Given the description of an element on the screen output the (x, y) to click on. 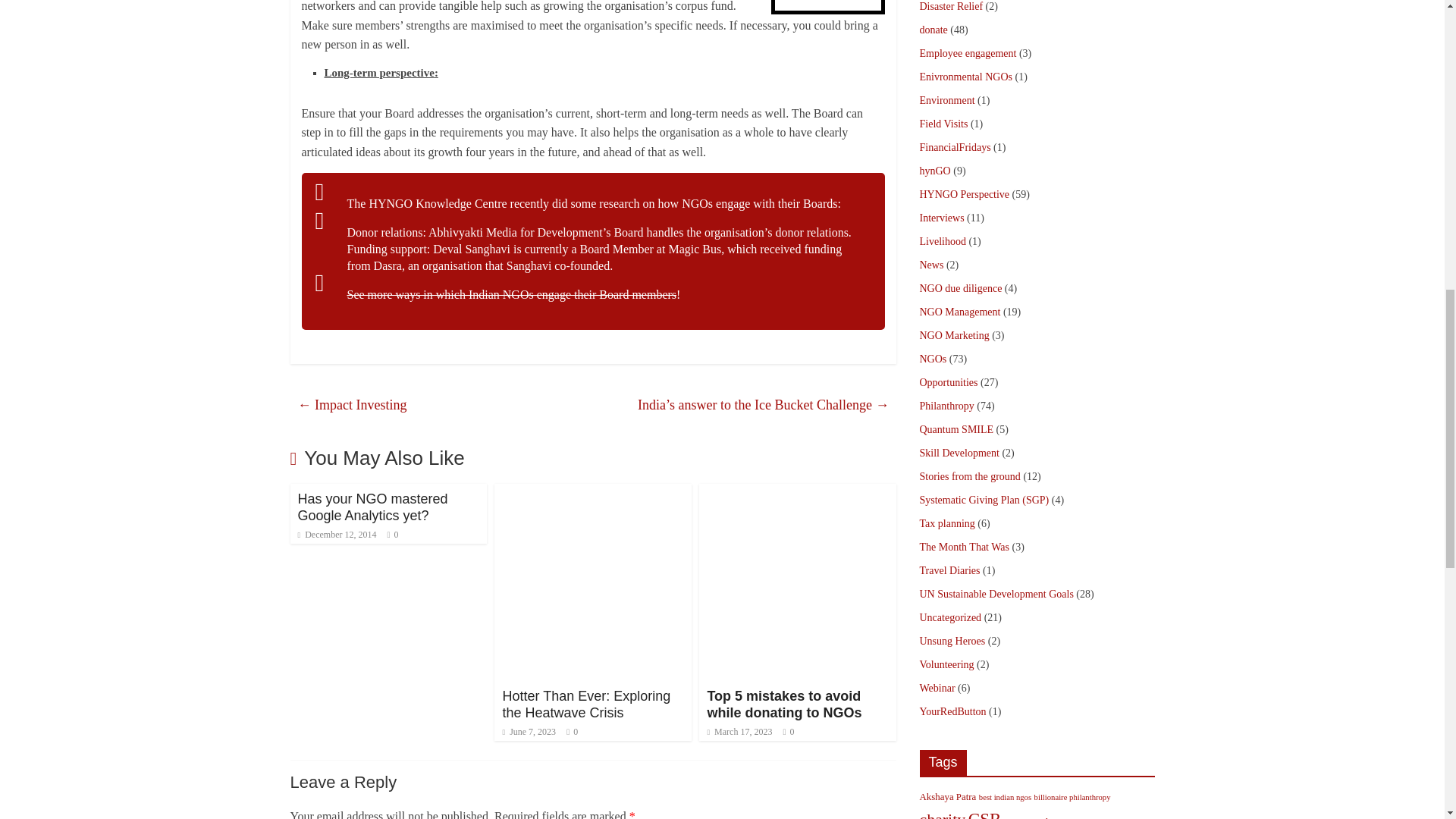
5:45 pm (336, 534)
Top 5 mistakes to avoid while donating to NGOs (797, 492)
Has your NGO mastered Google Analytics yet? (371, 507)
Hotter Than Ever: Exploring the Heatwave Crisis (585, 704)
Board Games II: Insights from practice (512, 294)
Top 5 mistakes to avoid while donating to NGOs (783, 704)
Has your NGO mastered Google Analytics yet? (371, 507)
Hotter Than Ever: Exploring the Heatwave Crisis (593, 492)
December 12, 2014 (336, 534)
March 17, 2023 (738, 731)
June 7, 2023 (529, 731)
Hotter Than Ever: Exploring the Heatwave Crisis (585, 704)
3:00 pm (529, 731)
